Given the description of an element on the screen output the (x, y) to click on. 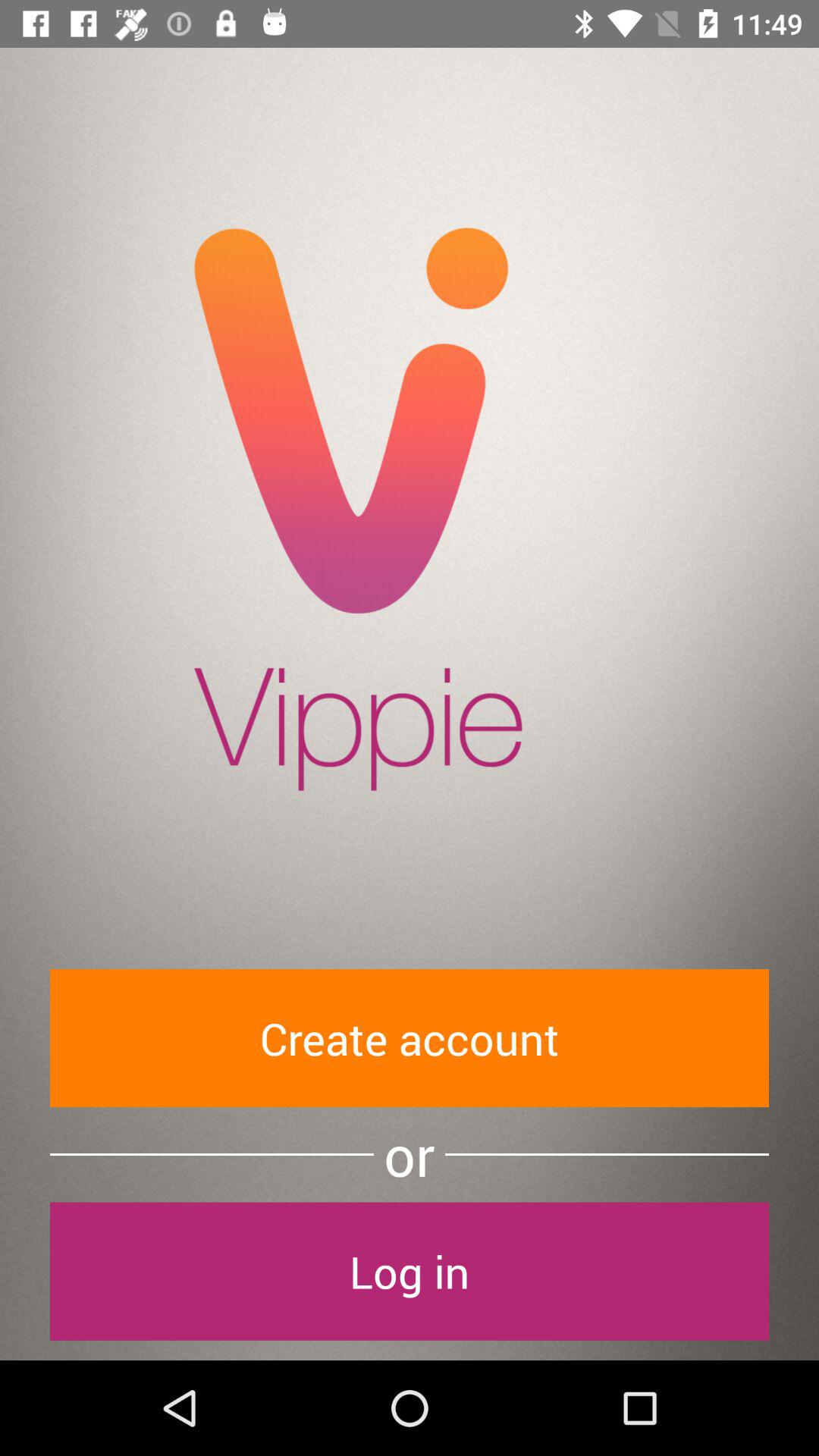
press create account item (409, 1038)
